Given the description of an element on the screen output the (x, y) to click on. 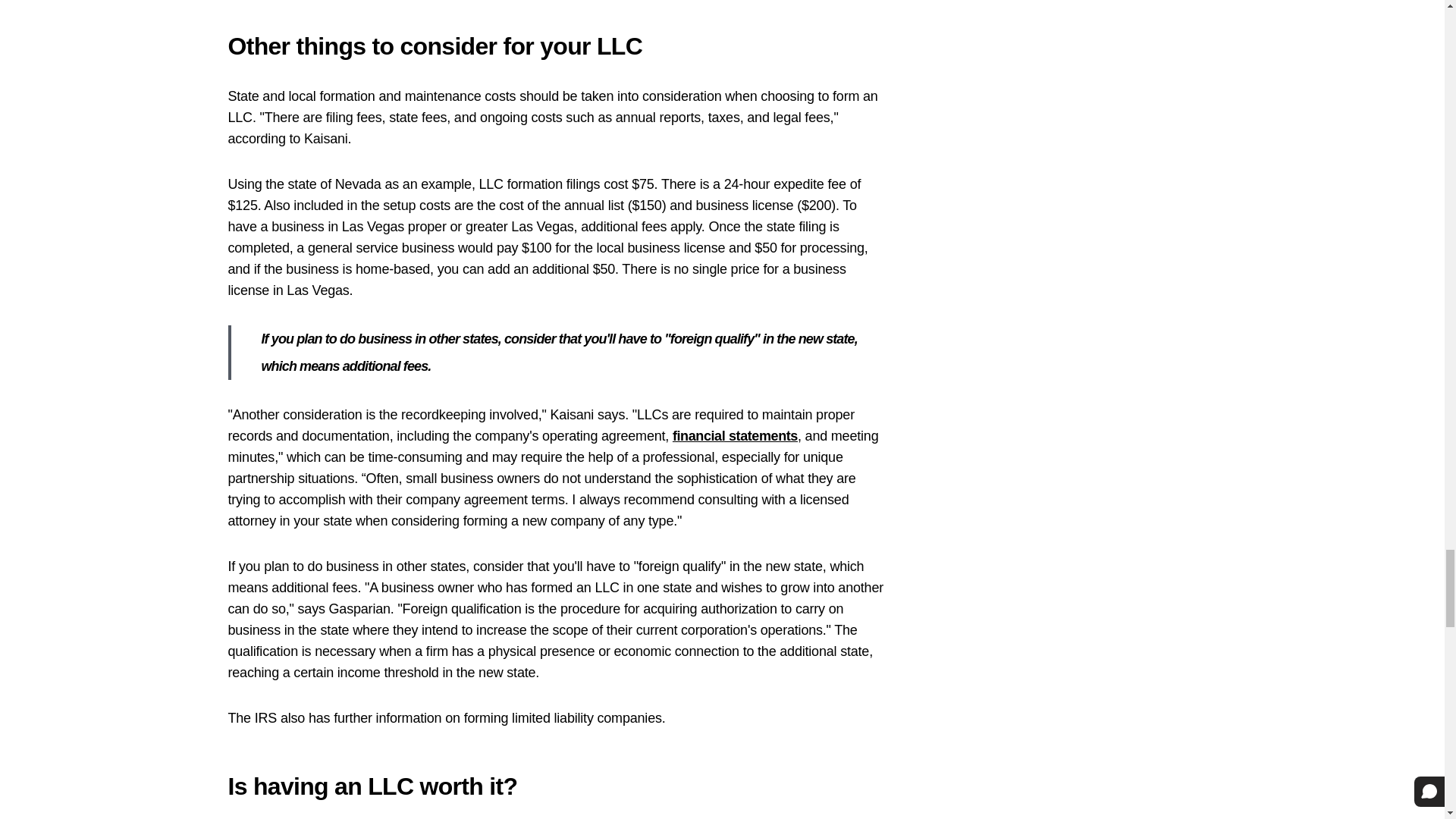
financial statements (734, 435)
